Given the description of an element on the screen output the (x, y) to click on. 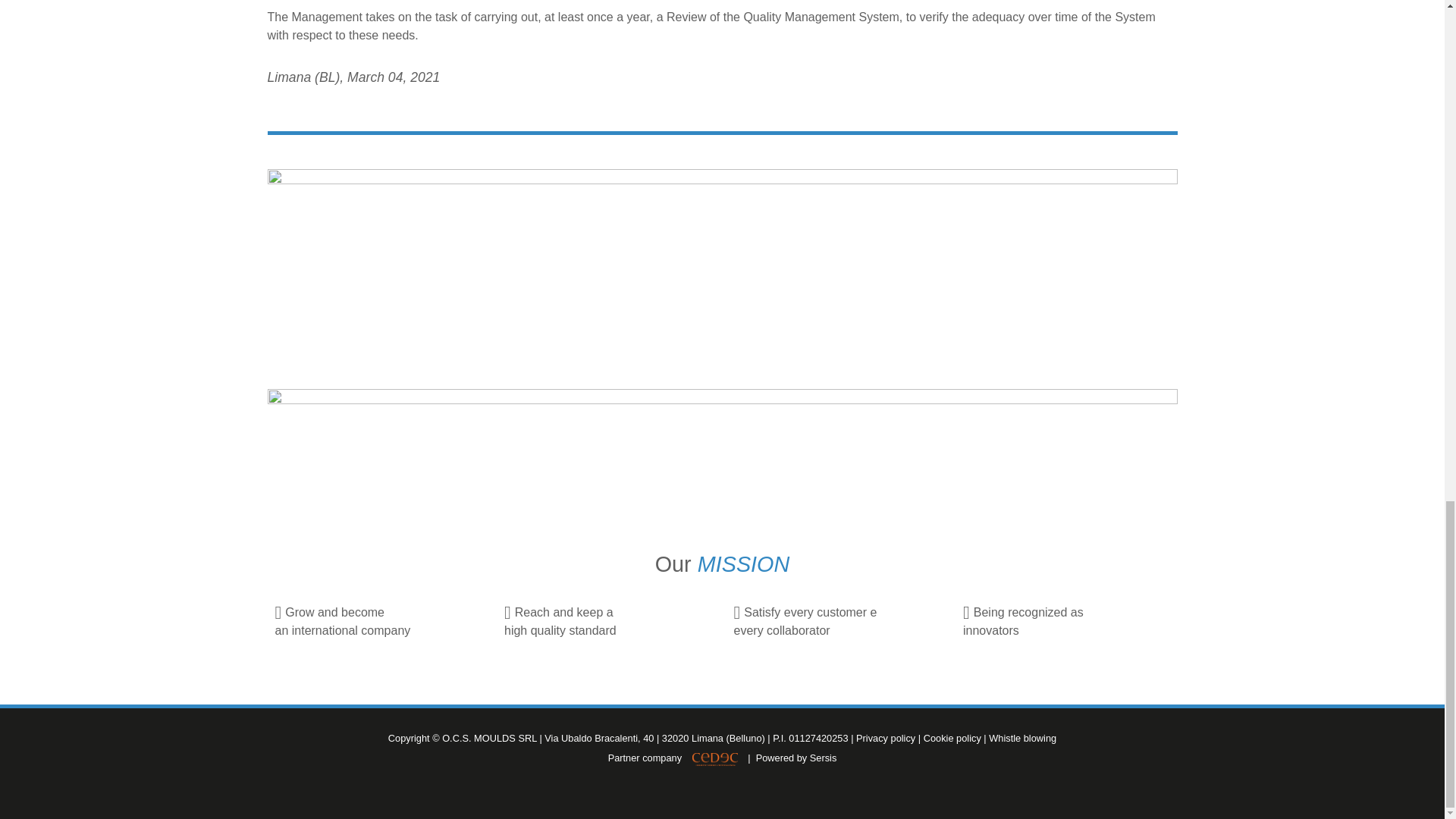
Privacy policy (885, 737)
Whistle blowing (1022, 737)
Cookie policy (952, 737)
Sersis (823, 758)
